Given the description of an element on the screen output the (x, y) to click on. 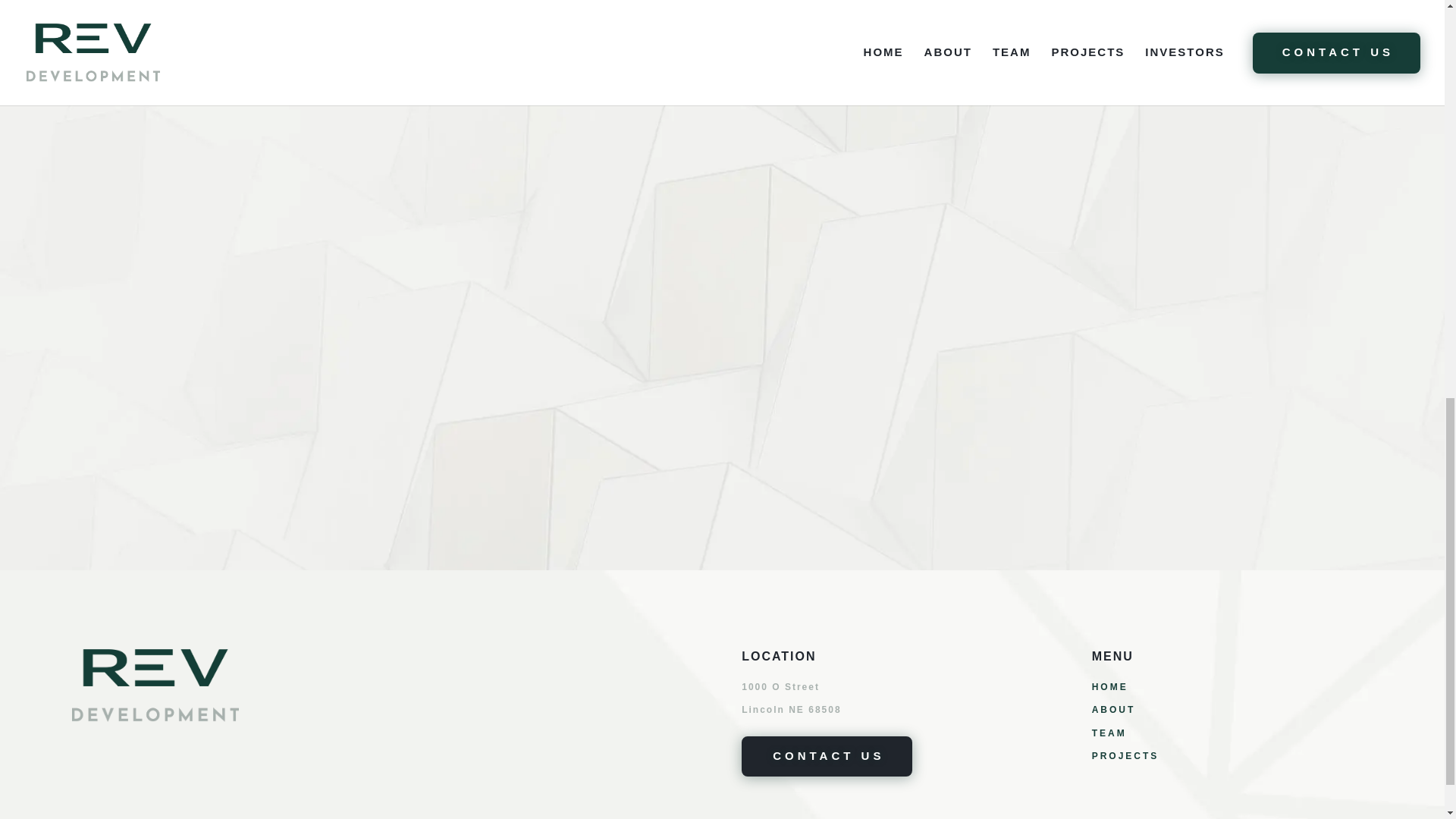
CONTACT US (826, 756)
TEAM (1109, 733)
Logo-png-01 Molly (154, 685)
HOME (1110, 686)
PROJECTS (1125, 756)
ABOUT (1113, 709)
1000 O Street (780, 686)
Lincoln NE 68508 (791, 709)
